Given the description of an element on the screen output the (x, y) to click on. 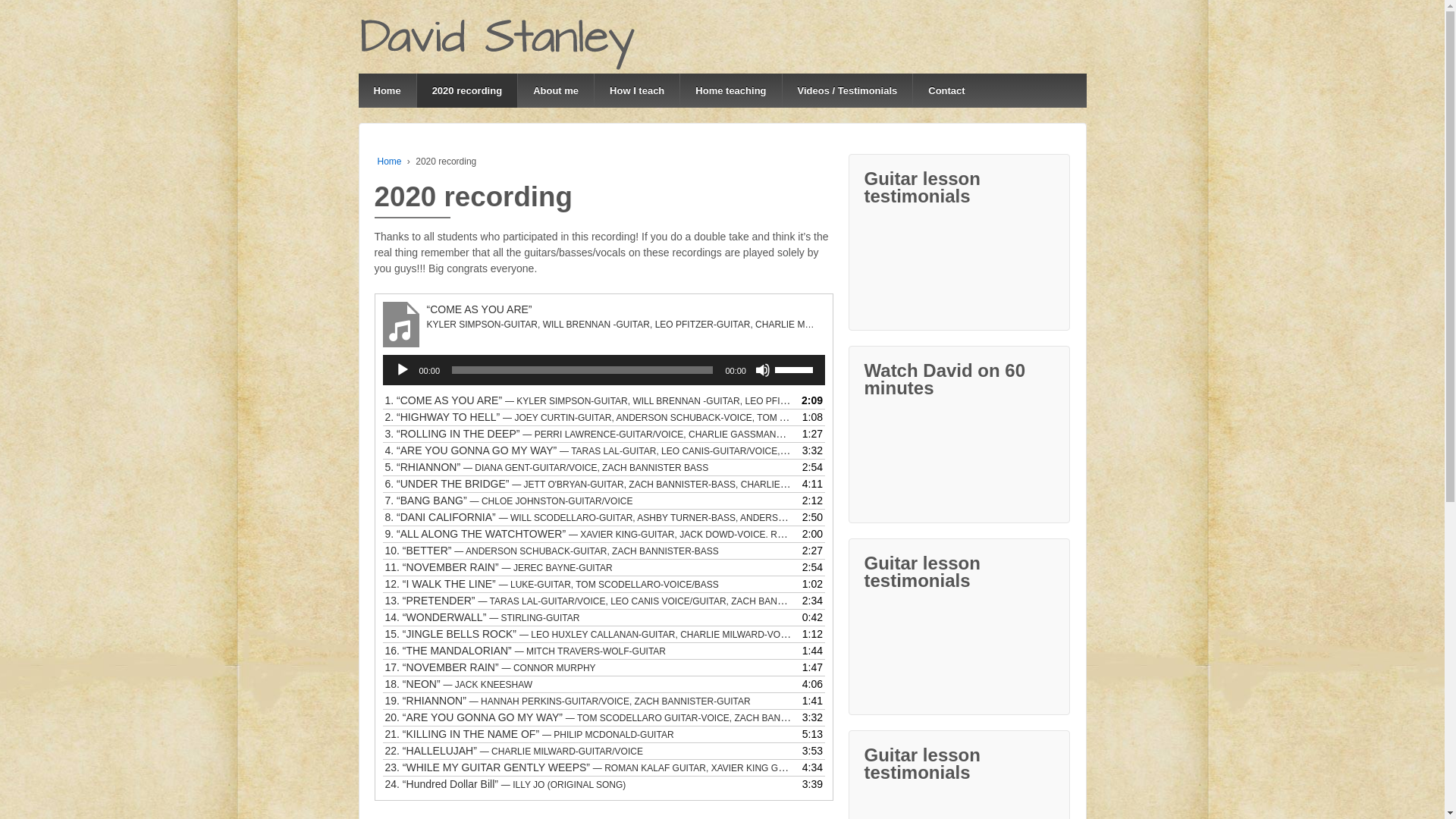
Contact Element type: text (945, 90)
Videos / Testimonials Element type: text (847, 90)
Mute Element type: hover (762, 369)
About me Element type: text (555, 90)
Use Up/Down Arrow keys to increase or decrease volume. Element type: text (796, 368)
Home Element type: text (389, 161)
Play Element type: hover (401, 369)
Home teaching Element type: text (730, 90)
2020 recording Element type: text (466, 90)
Home Element type: text (386, 90)
How I teach Element type: text (636, 90)
